Given the description of an element on the screen output the (x, y) to click on. 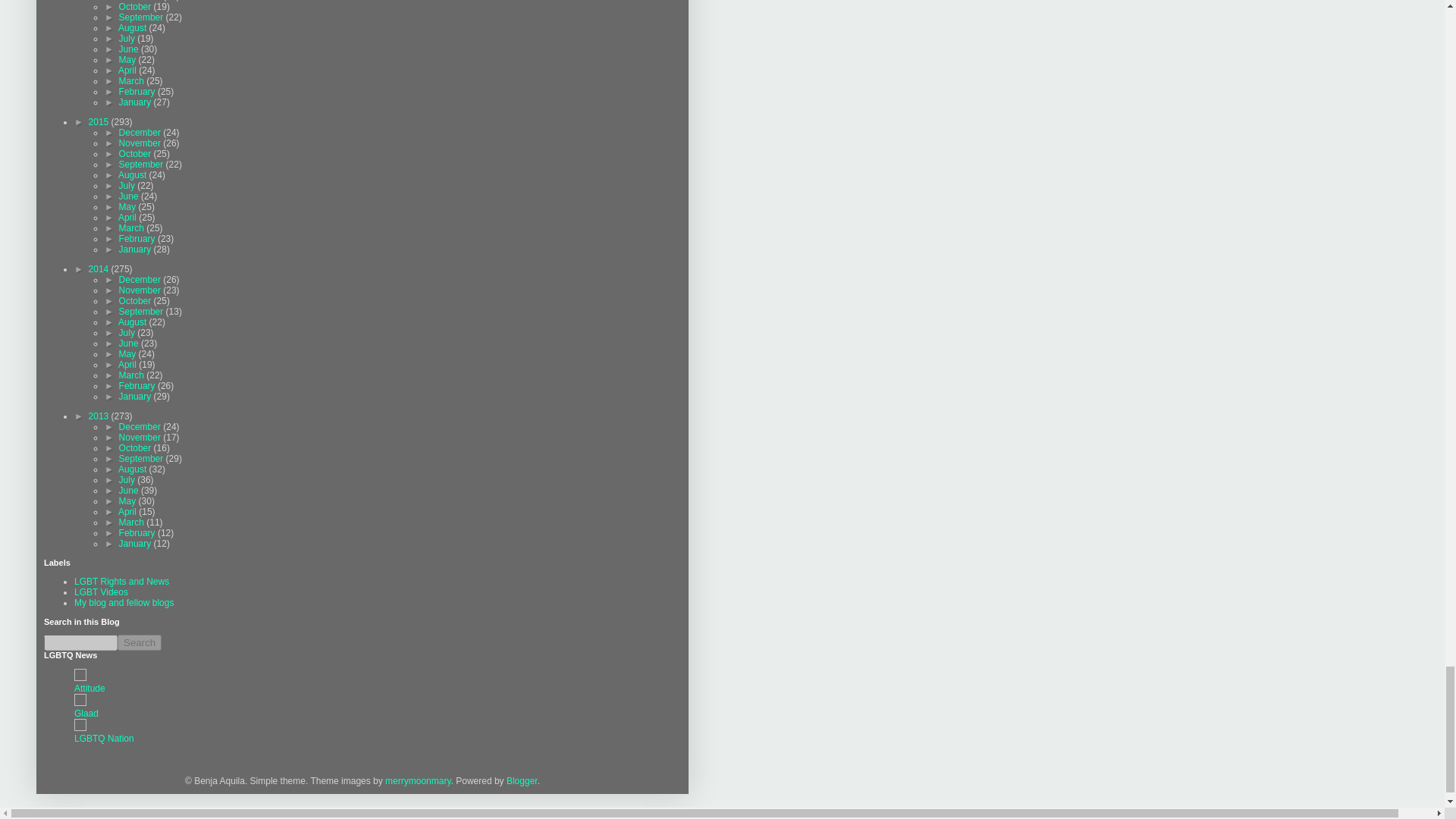
Search (139, 642)
search (80, 642)
search (139, 642)
Search (139, 642)
